Given the description of an element on the screen output the (x, y) to click on. 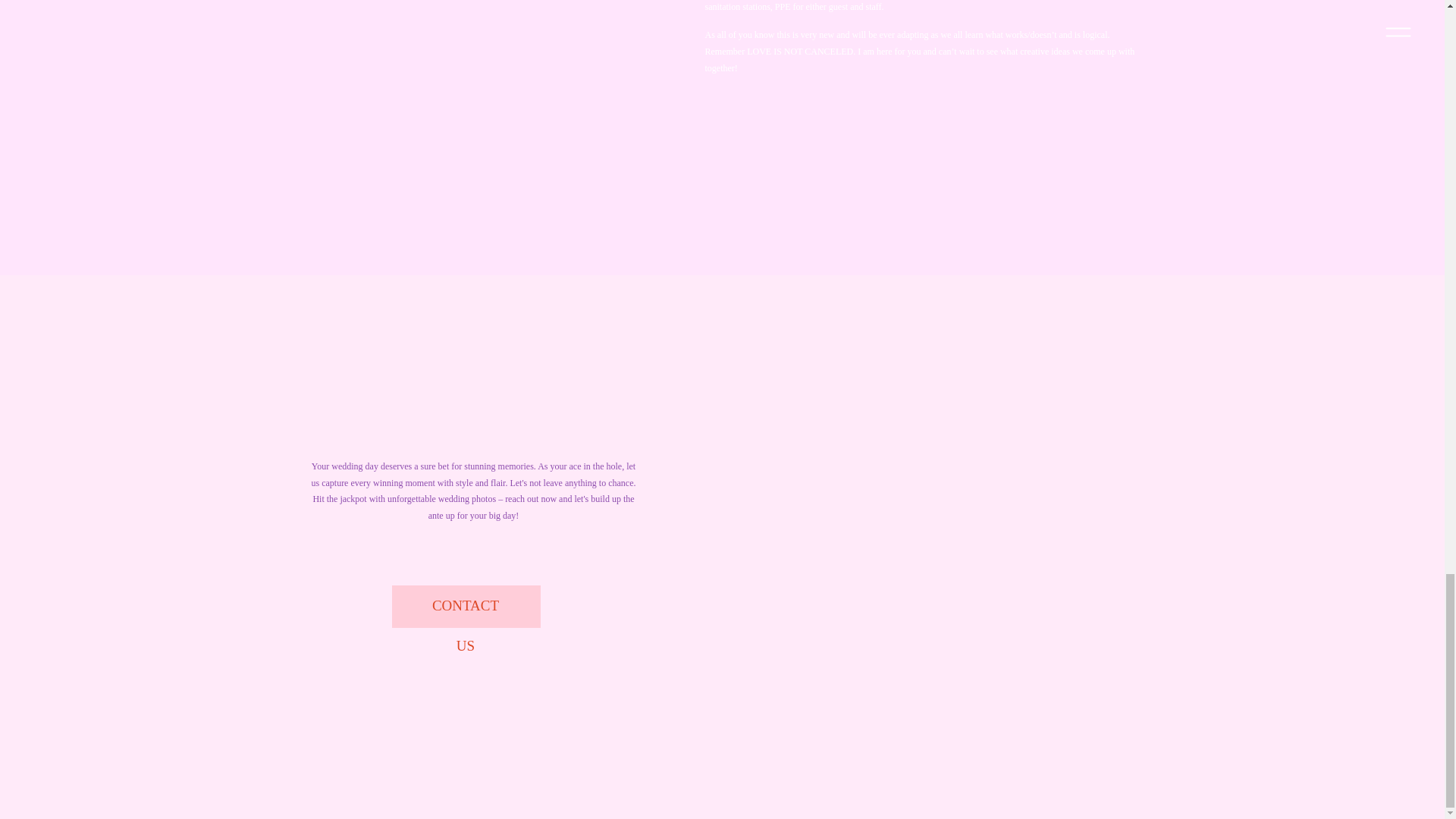
CONTACT US (465, 606)
